Given the description of an element on the screen output the (x, y) to click on. 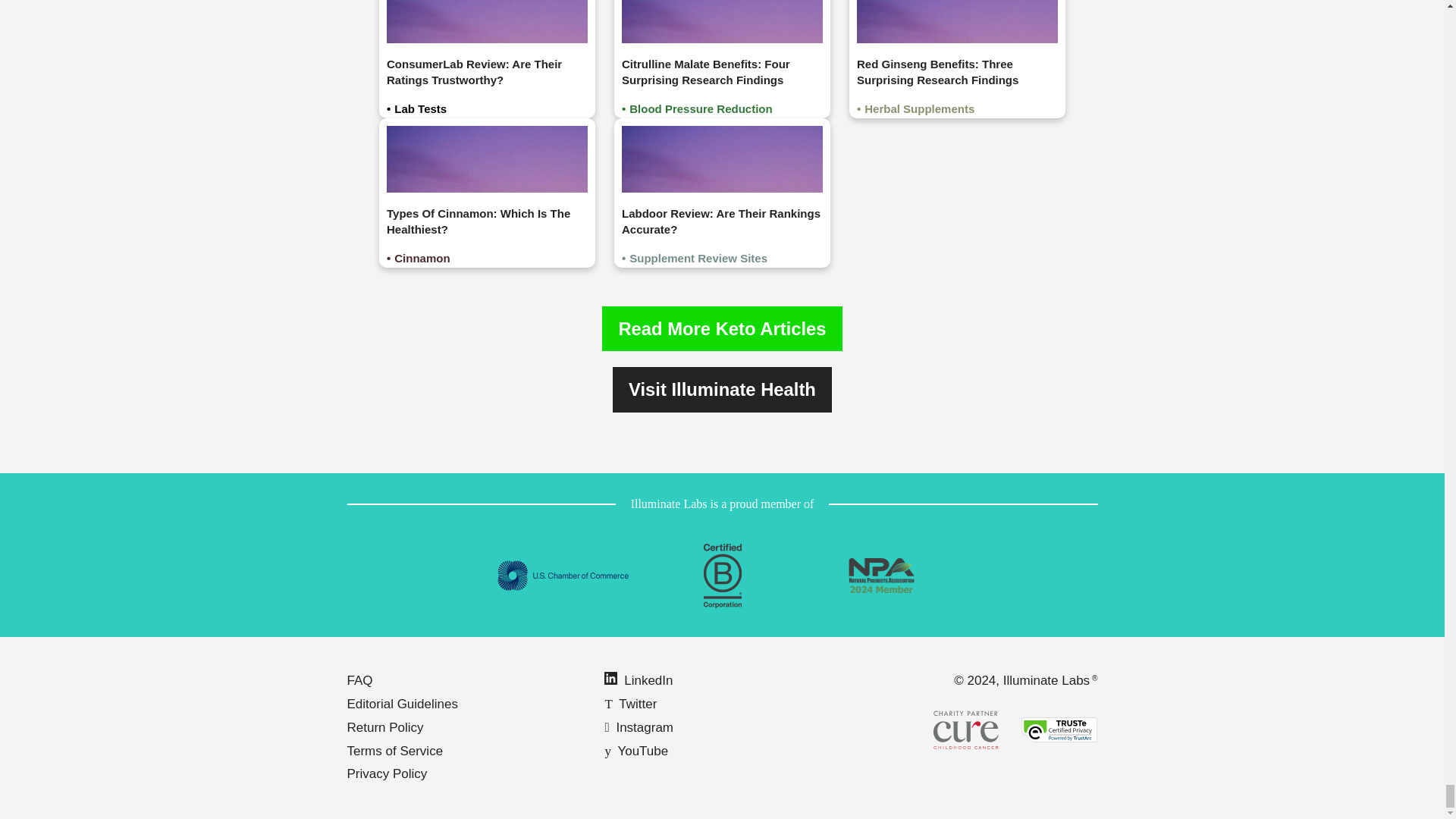
Illuminate Labs on Instagram (638, 727)
Illuminate Labs on LinkedIn (638, 680)
Illuminate Labs on YouTube (636, 750)
Illuminate Labs on Twitter (630, 703)
